Given the description of an element on the screen output the (x, y) to click on. 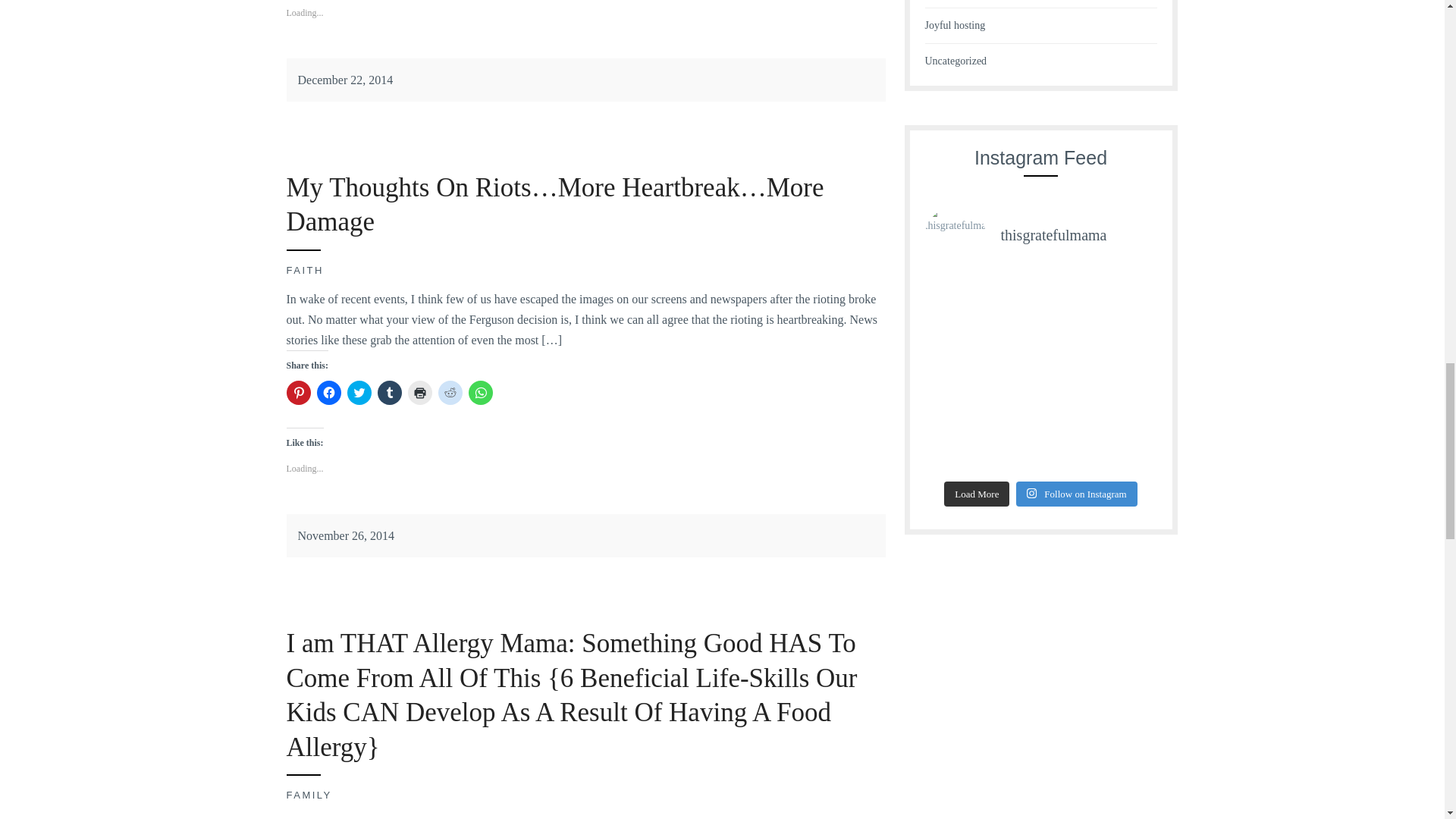
FAITH (304, 270)
December 22, 2014 (345, 79)
